Given the description of an element on the screen output the (x, y) to click on. 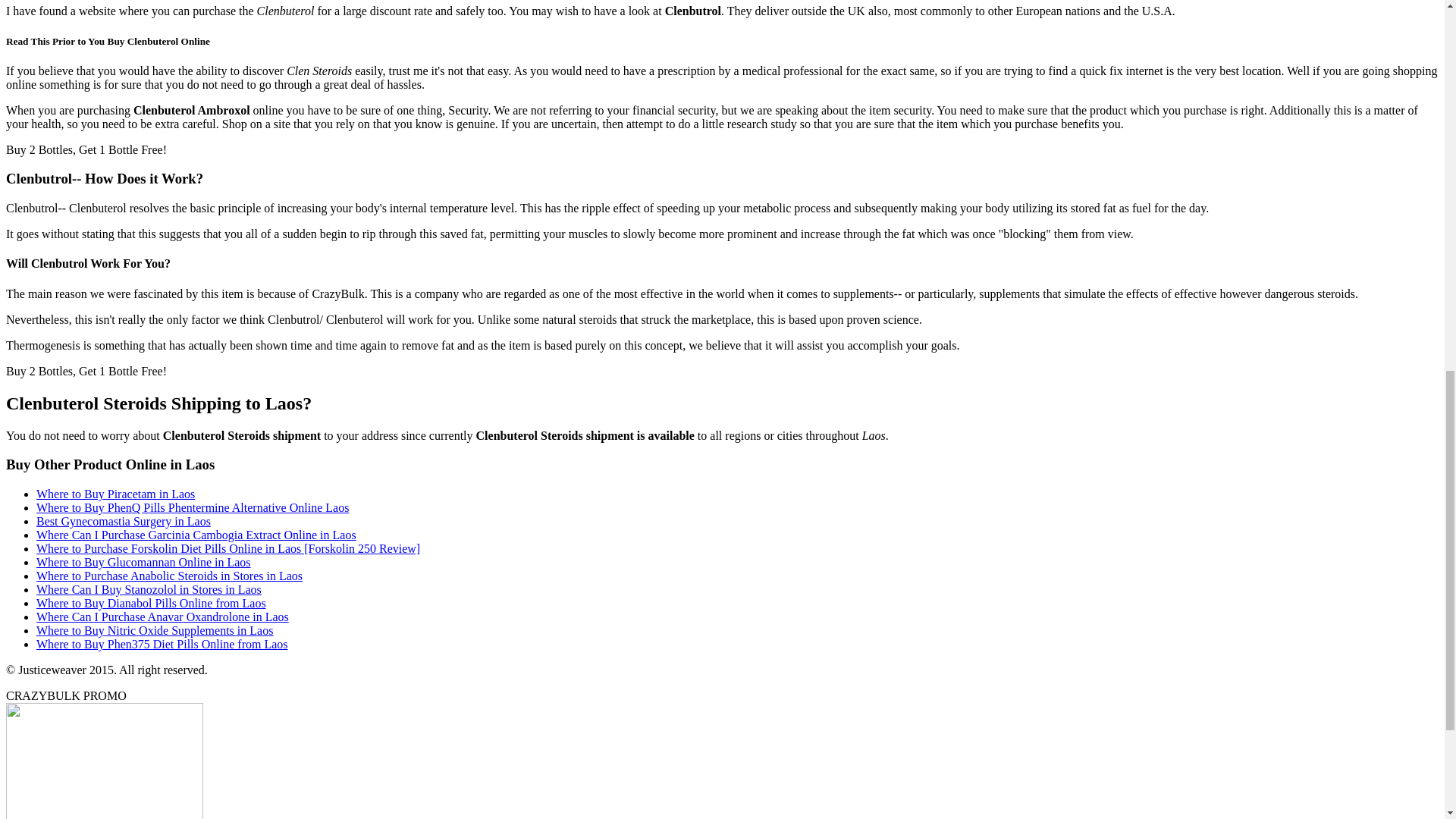
Where to Purchase Anabolic Steroids in Stores in Laos (169, 575)
Where to Buy Phen375 Diet Pills Online from Laos (162, 644)
Where to Buy Nitric Oxide Supplements in Laos (154, 630)
Where to Buy Dianabol Pills Online from Laos (151, 603)
Best Gynecomastia Surgery in Laos (123, 521)
Where to Buy Glucomannan Online in Laos (143, 562)
Where to Purchase Anabolic Steroids in Stores in Laos (169, 575)
Where Can I Purchase Anavar Oxandrolone in Laos (162, 616)
